Given the description of an element on the screen output the (x, y) to click on. 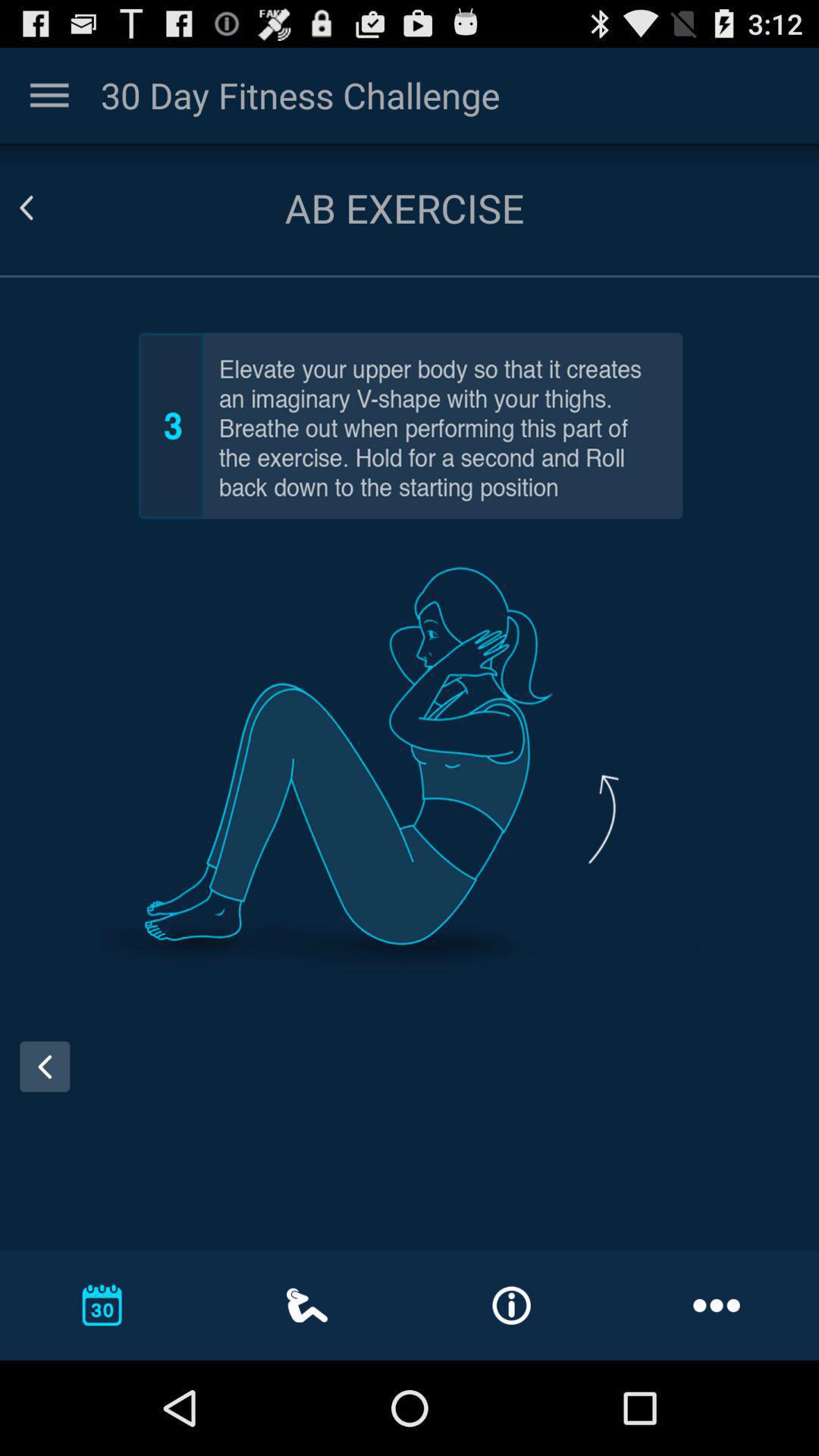
click the back button (26, 207)
